Given the description of an element on the screen output the (x, y) to click on. 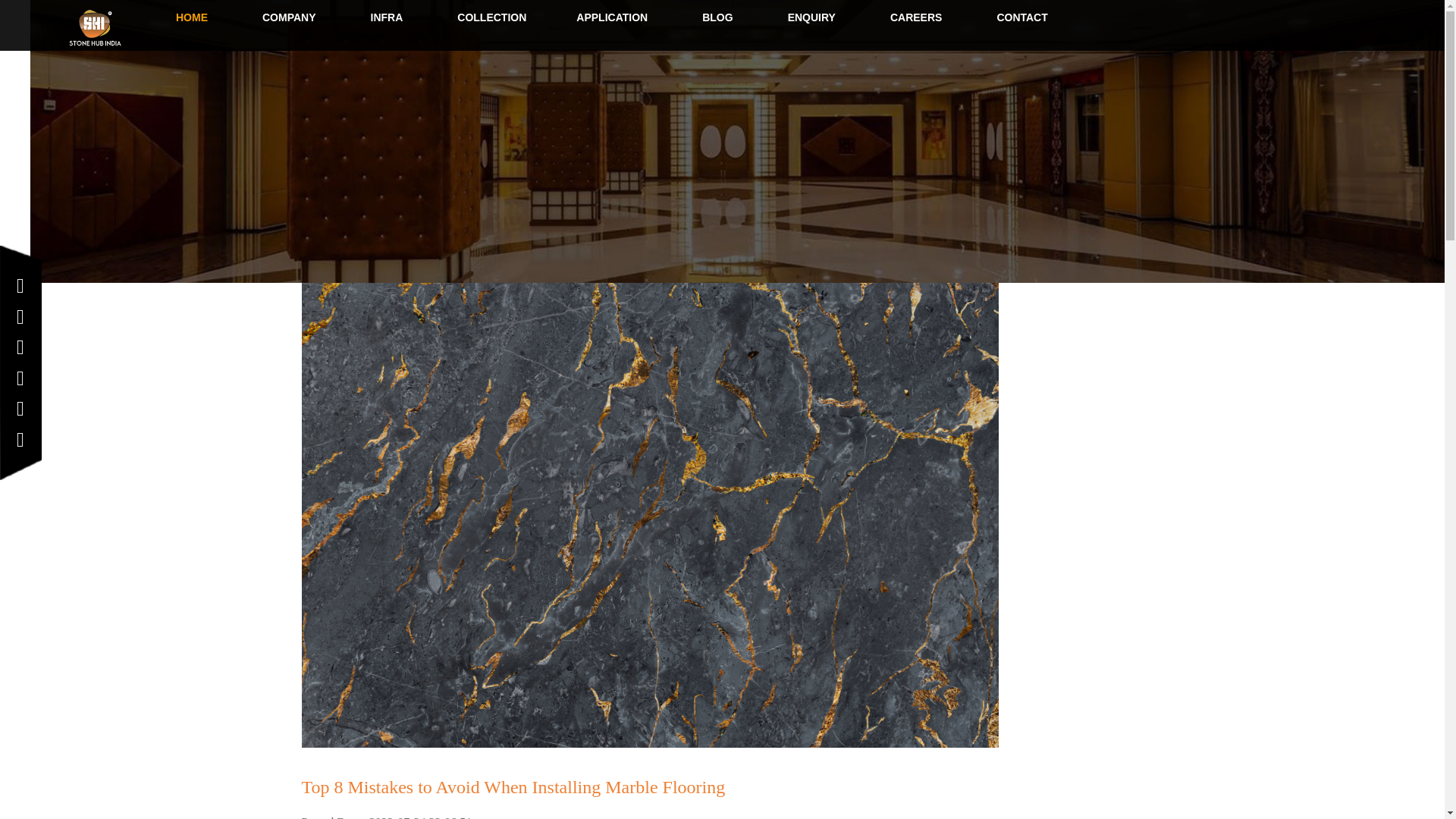
CAREERS (916, 17)
COMPANY (288, 17)
CONTACT (1021, 17)
HOME (191, 17)
BLOG (717, 17)
INFRA (386, 17)
ENQUIRY (811, 17)
APPLICATION (611, 17)
COLLECTION (488, 17)
